Given the description of an element on the screen output the (x, y) to click on. 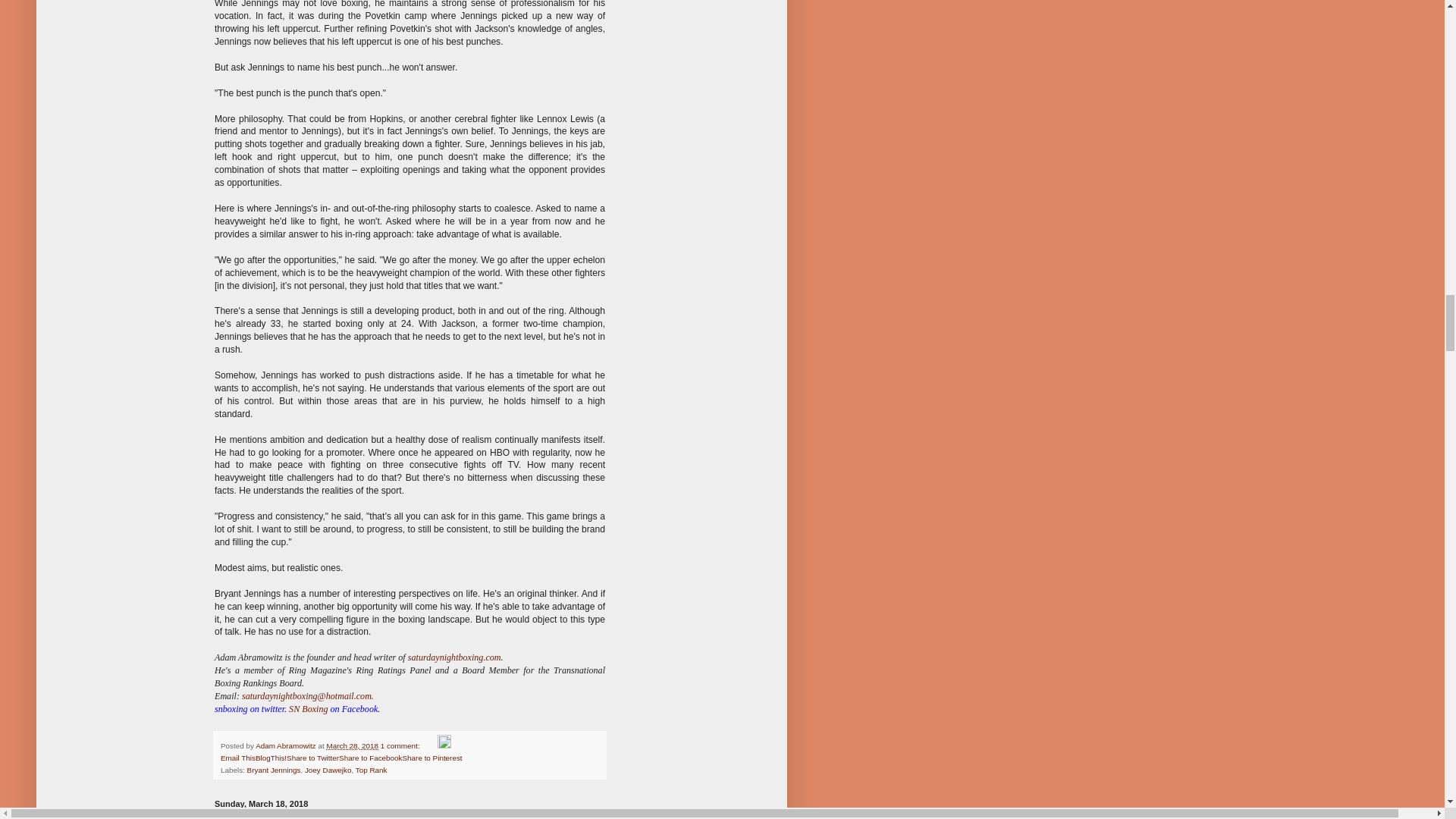
Bryant Jennings (274, 769)
Share to Facebook (370, 757)
Email This (238, 757)
Edit Post (444, 746)
author profile (286, 746)
SN Boxing (307, 708)
March 28, 2018 (352, 746)
Email Post (430, 746)
BlogThis! (271, 757)
Share to Twitter (312, 757)
Adam Abramowitz (286, 746)
Share to Pinterest (433, 757)
permanent link (352, 746)
Email This (238, 757)
saturdaynightboxing.com (453, 656)
